Given the description of an element on the screen output the (x, y) to click on. 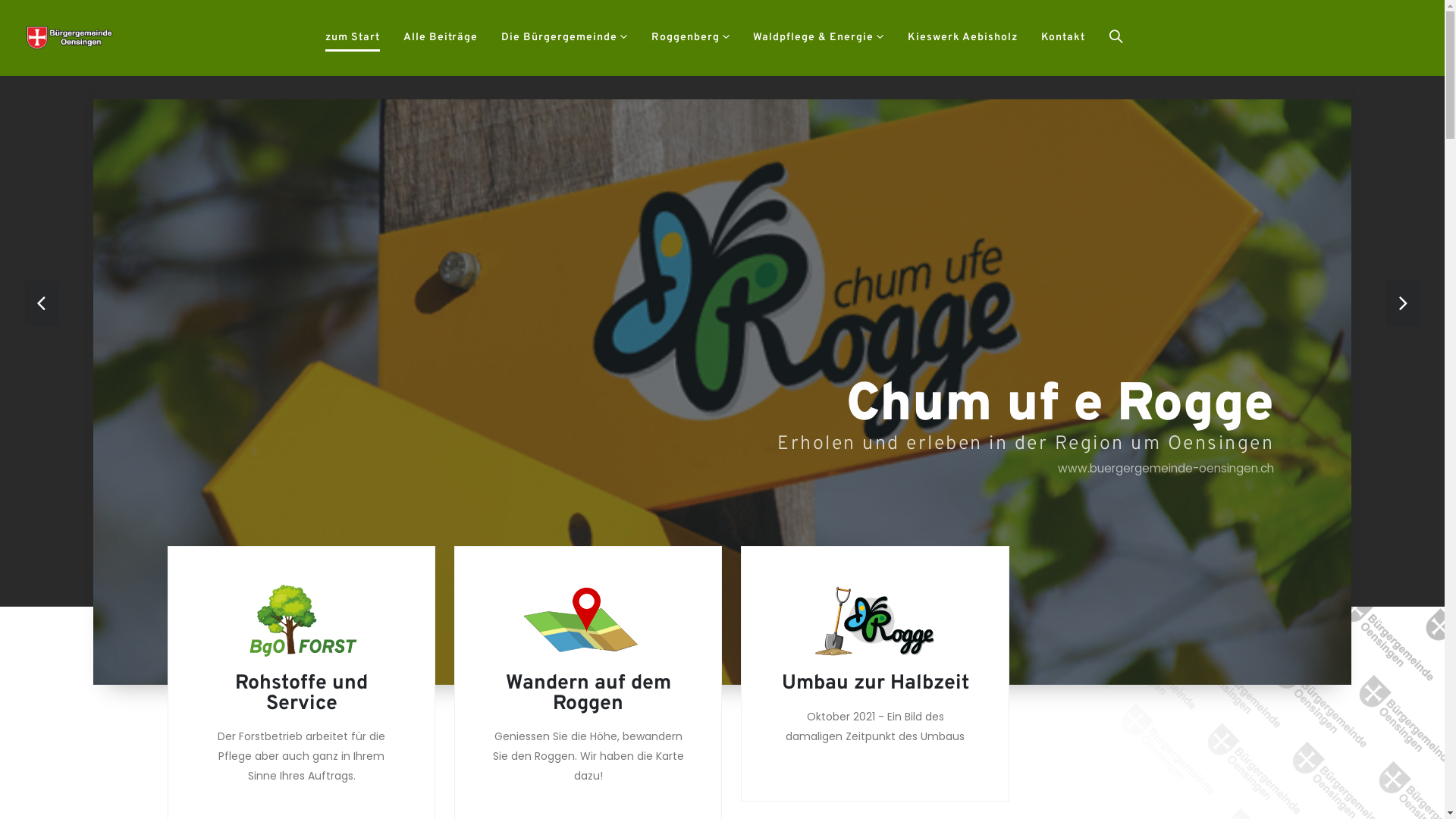
zum Start Element type: text (352, 37)
Kontakt Element type: text (1062, 37)
Waldpflege & Energie Element type: text (818, 37)
Roggenberg Element type: text (690, 37)
Kieswerk Aebisholz Element type: text (963, 37)
